Given the description of an element on the screen output the (x, y) to click on. 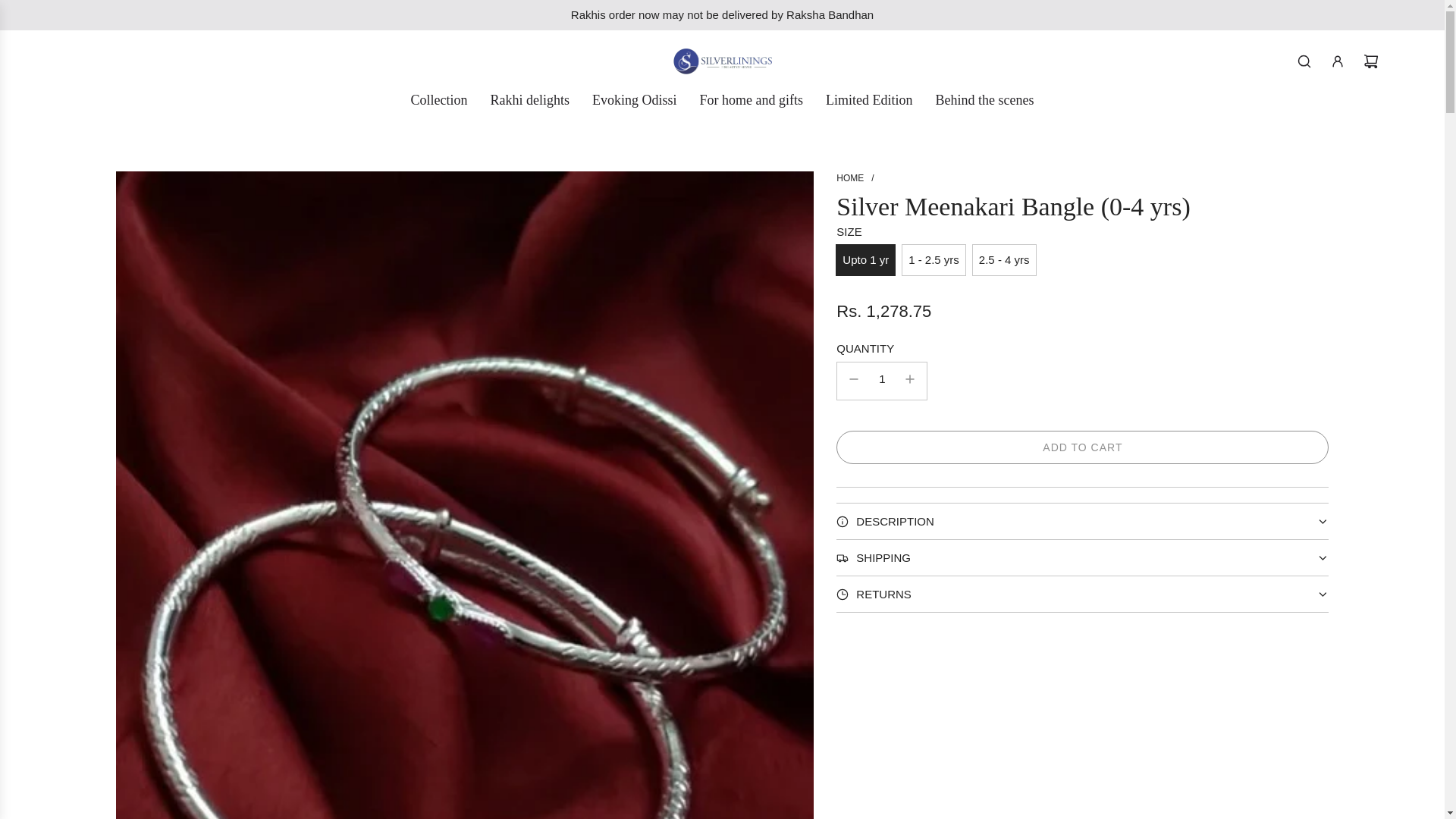
Back to the frontpage (849, 177)
